Given the description of an element on the screen output the (x, y) to click on. 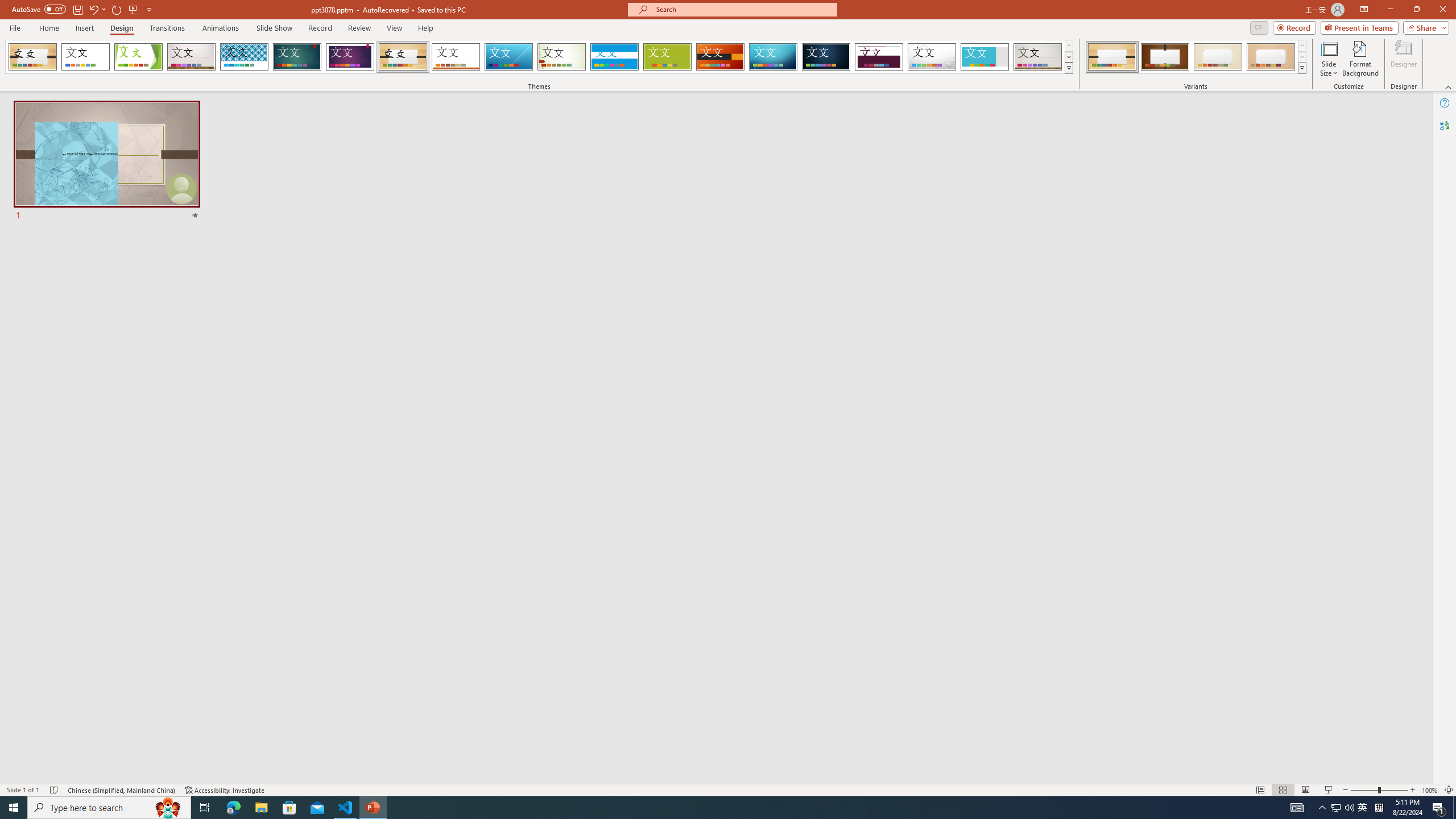
Variants (1301, 67)
Facet (138, 56)
Banded (614, 56)
